Given the description of an element on the screen output the (x, y) to click on. 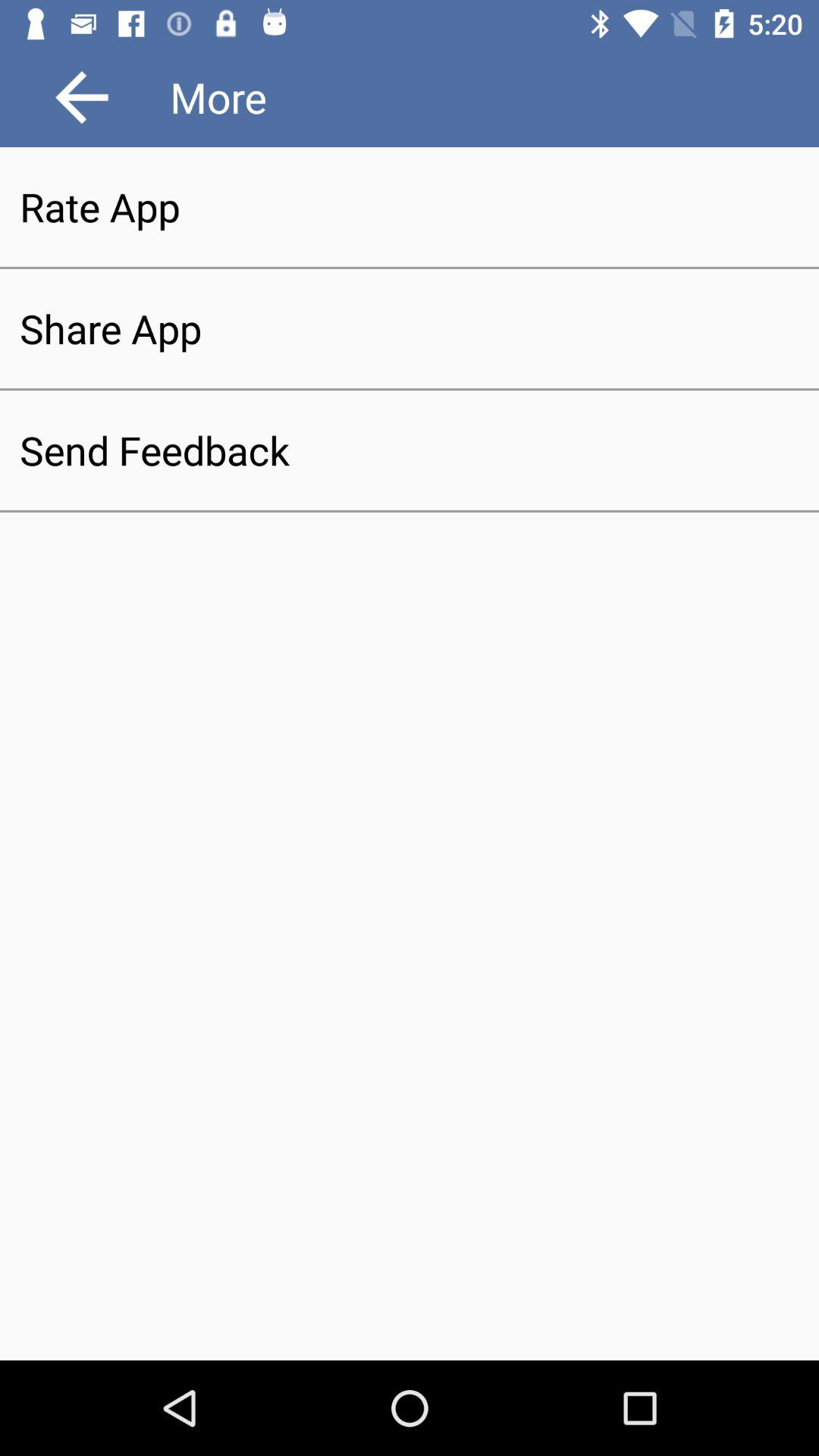
flip to share app item (409, 328)
